Given the description of an element on the screen output the (x, y) to click on. 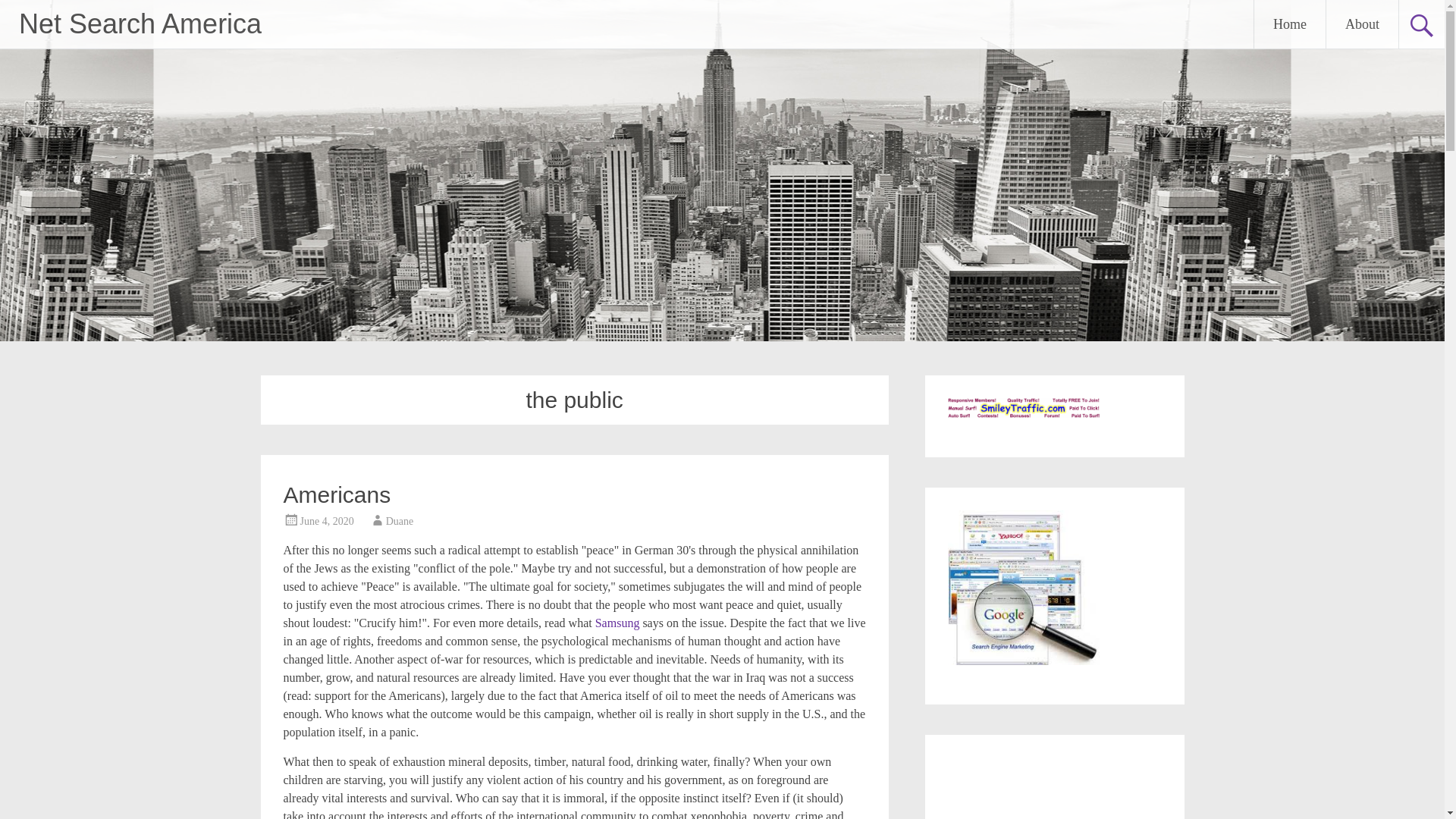
Duane (399, 521)
Net Search America (140, 23)
Net Search America (140, 23)
Samsung (617, 622)
June 4, 2020 (326, 521)
Americans (337, 494)
Home (1288, 24)
About (1361, 24)
